Given the description of an element on the screen output the (x, y) to click on. 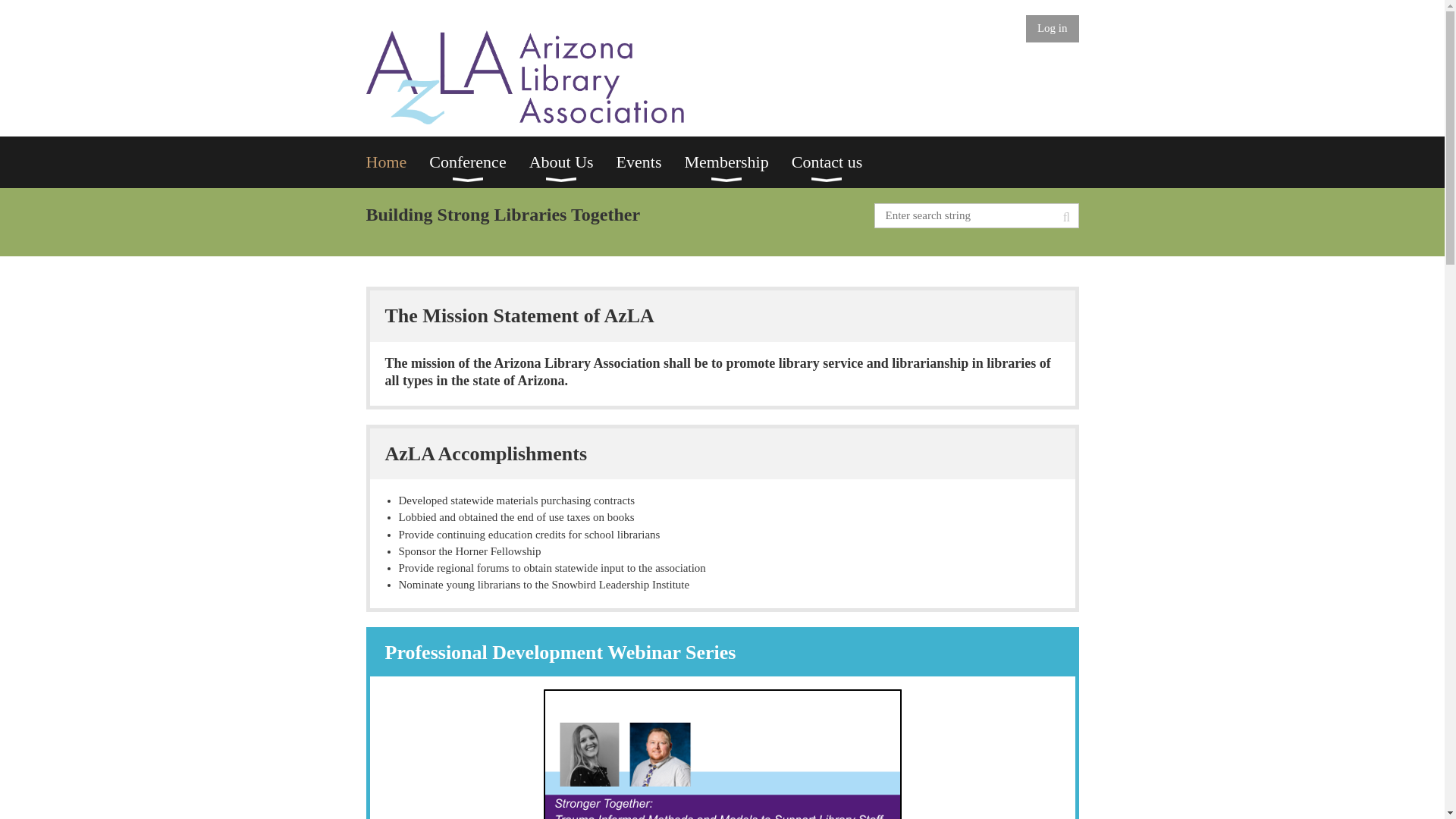
Conference (478, 162)
Home (397, 162)
Home (397, 162)
Conference (478, 162)
Log in (1052, 28)
